Given the description of an element on the screen output the (x, y) to click on. 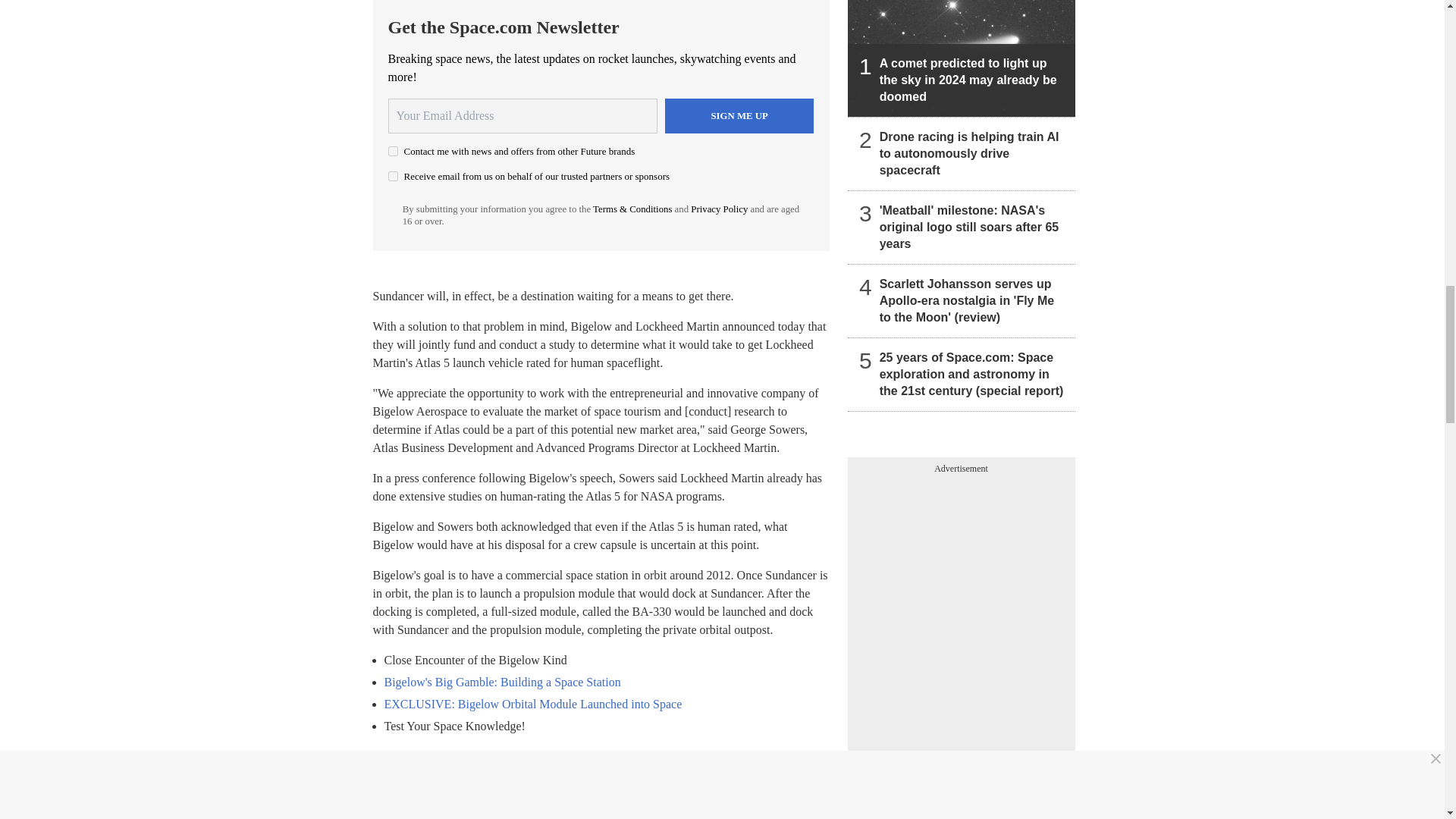
on (392, 151)
on (392, 175)
Sign me up (739, 115)
